Given the description of an element on the screen output the (x, y) to click on. 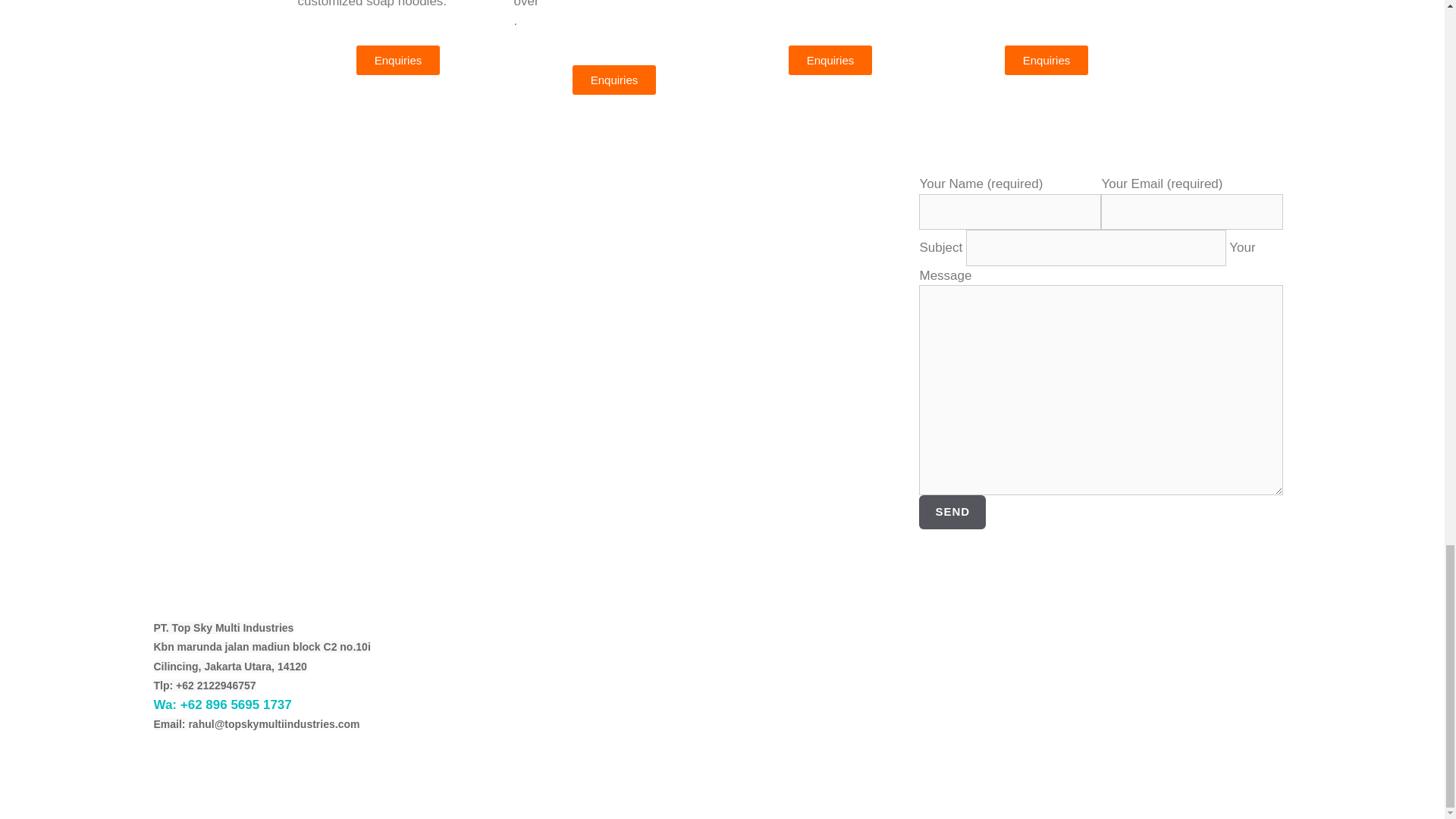
Enquiries (614, 80)
Enquiries (1046, 60)
Send (951, 512)
Send (951, 512)
Enquiries (398, 60)
Enquiries (830, 60)
